Given the description of an element on the screen output the (x, y) to click on. 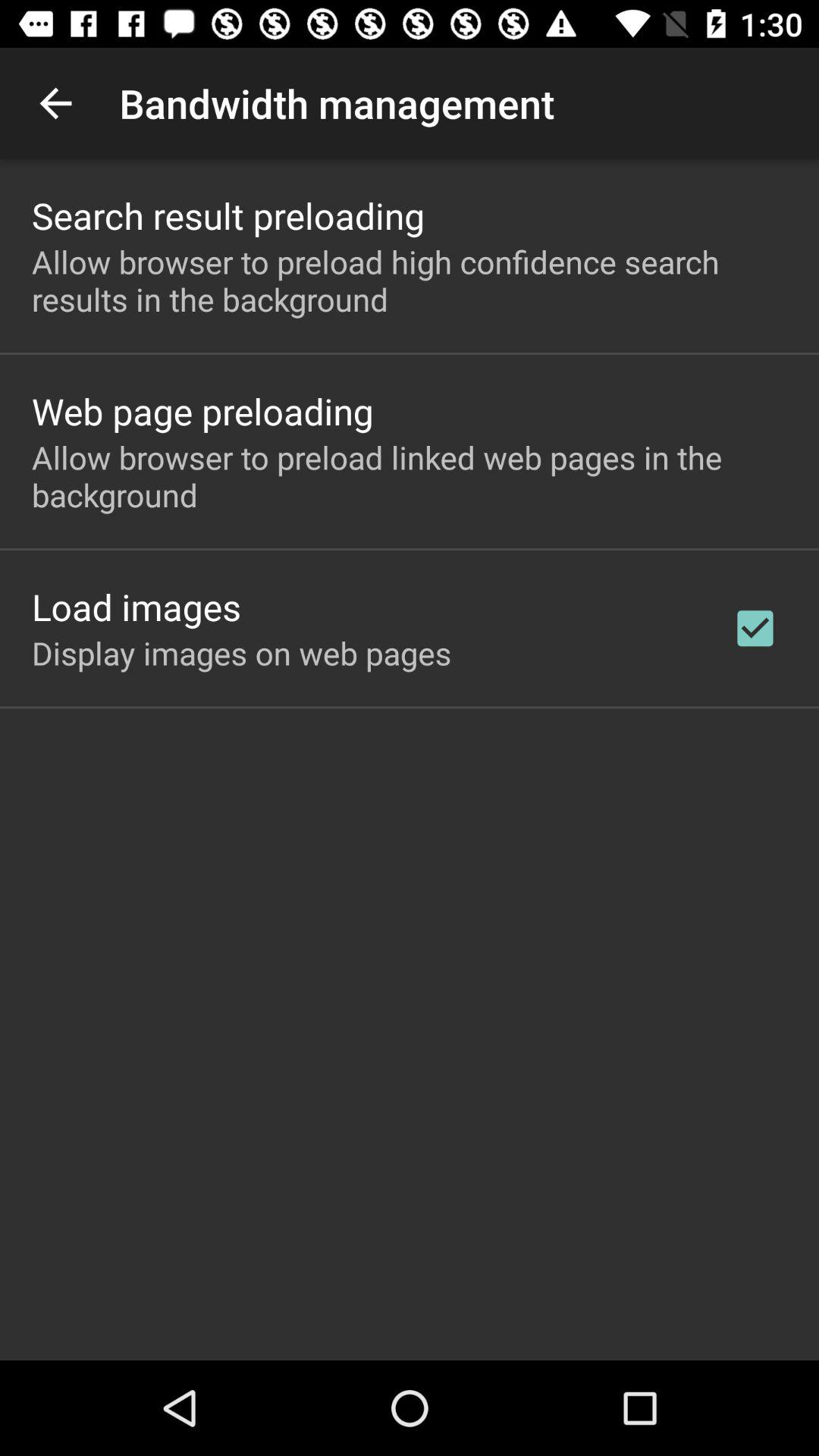
select web page preloading (202, 410)
